Given the description of an element on the screen output the (x, y) to click on. 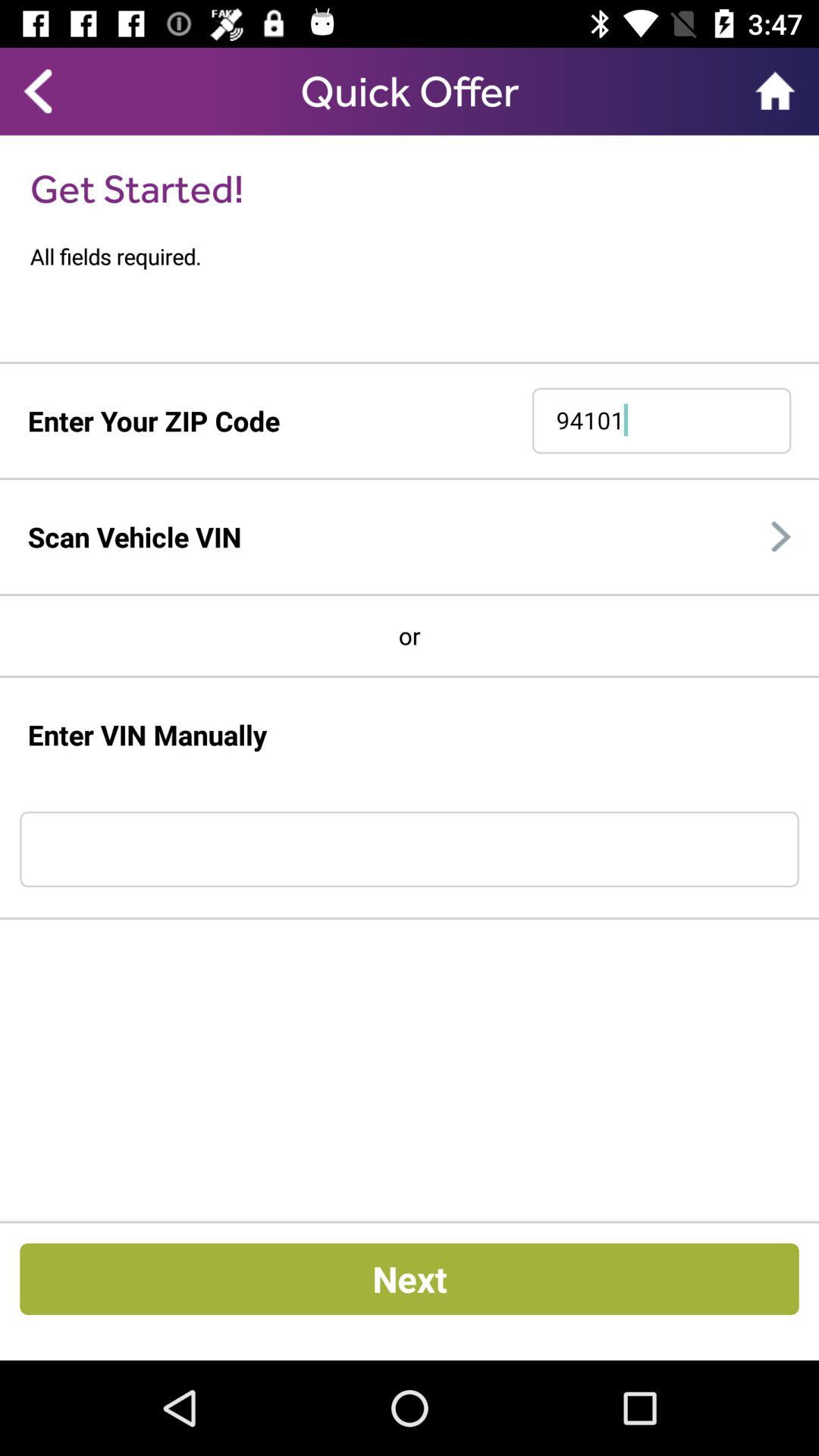
turn off the icon above the or (409, 594)
